Given the description of an element on the screen output the (x, y) to click on. 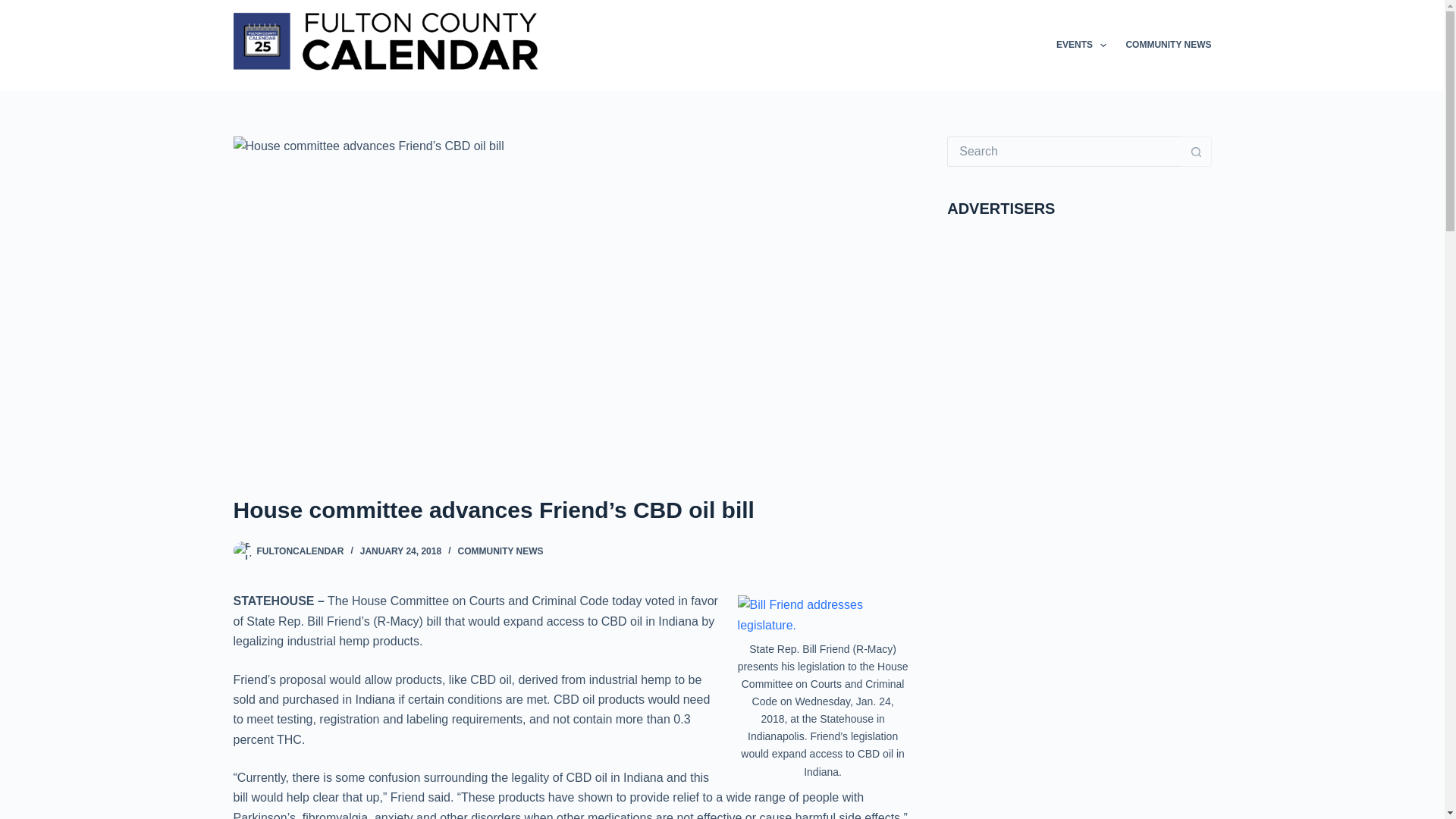
Search for... (1063, 151)
COMMUNITY NEWS (1163, 45)
Posts by fultoncalendar (299, 551)
FULTONCALENDAR (299, 551)
COMMUNITY NEWS (500, 551)
Skip to content (15, 7)
